Given the description of an element on the screen output the (x, y) to click on. 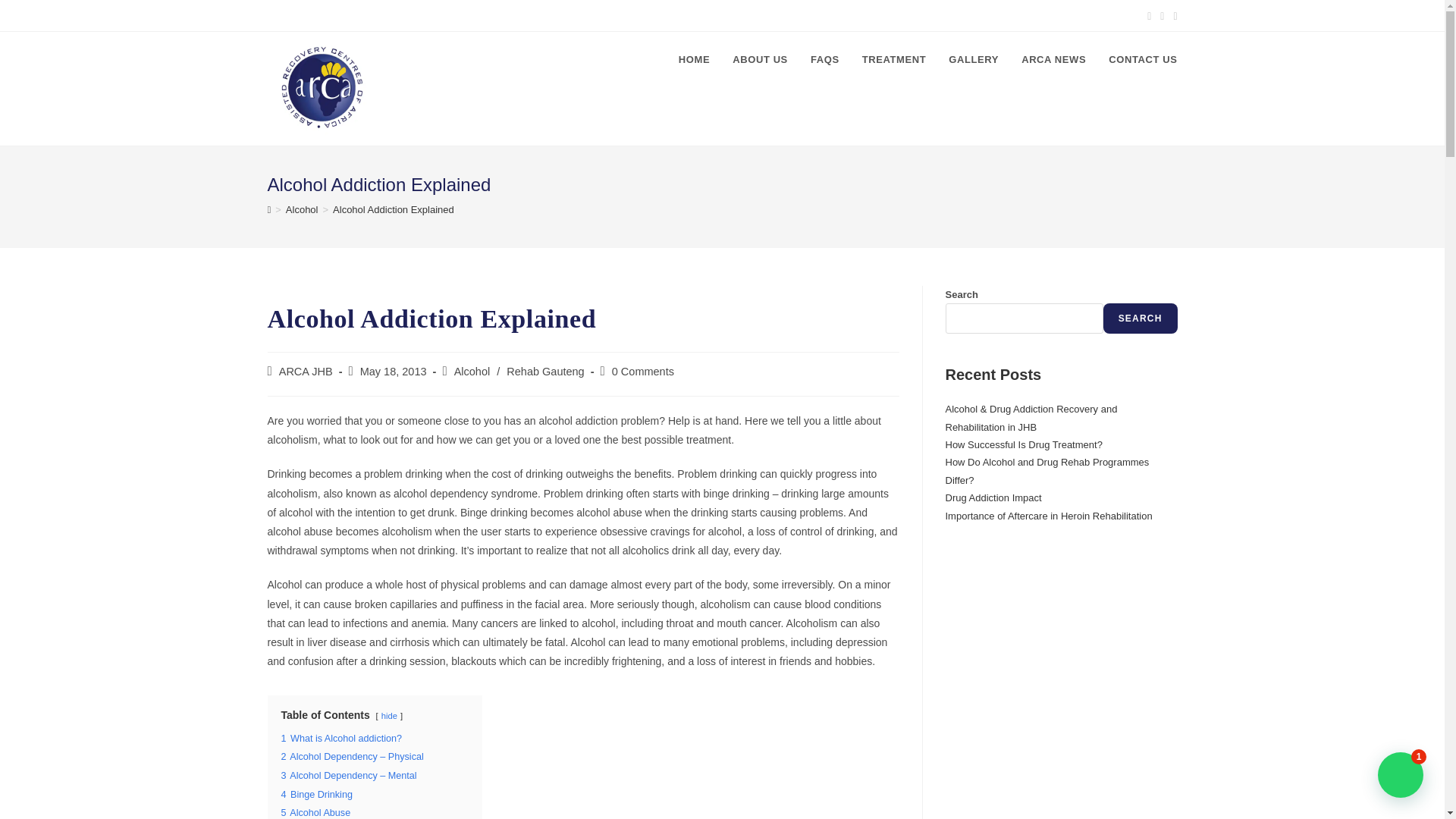
Alcohol (472, 371)
0 Comments (642, 371)
CONTACT US (1142, 59)
Posts by ARCA JHB (306, 371)
1 What is Alcohol addiction? (341, 738)
Rehab Gauteng (544, 371)
HOME (693, 59)
Alcohol Addiction Explained (393, 209)
ARCA NEWS (1053, 59)
4 Binge Drinking (316, 794)
5 Alcohol Abuse (315, 812)
hide (389, 715)
Alcohol (301, 209)
FAQS (824, 59)
GALLERY (973, 59)
